Given the description of an element on the screen output the (x, y) to click on. 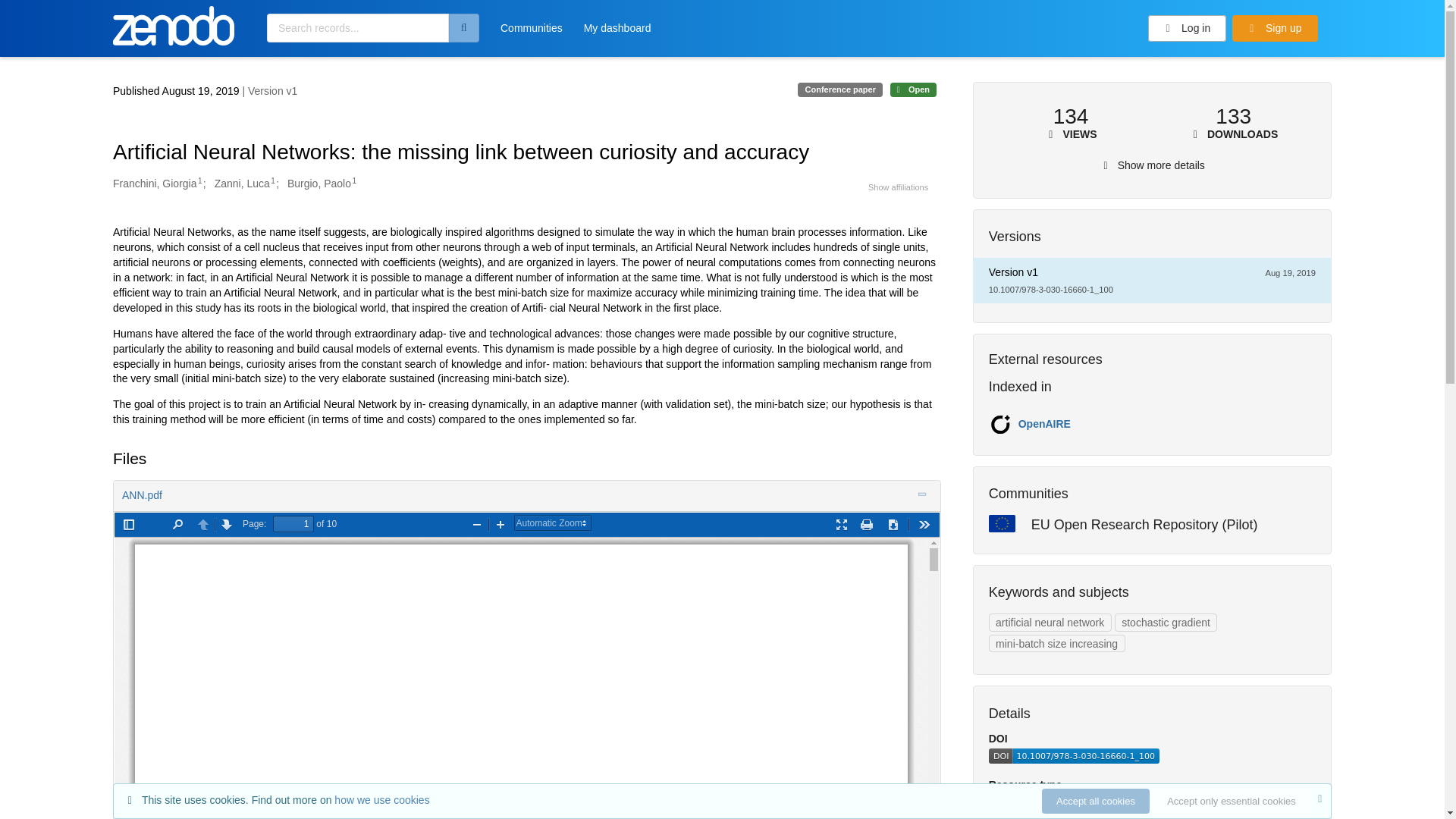
Publication date (177, 91)
mini-batch size increasing (1056, 643)
Sign up (1274, 28)
Communities (531, 32)
Search results for stochastic gradient (1166, 622)
Show affiliations (898, 187)
Zanni, Luca1 (244, 183)
OpenAIRE (1043, 423)
Search results for artificial neural network (1050, 622)
Log in (1187, 28)
Burgio, Paolo1 (321, 183)
stochastic gradient (1166, 622)
Skip to main (49, 17)
Get the DOI badge! (1073, 759)
Franchini, Giorgia1 (157, 183)
